Given the description of an element on the screen output the (x, y) to click on. 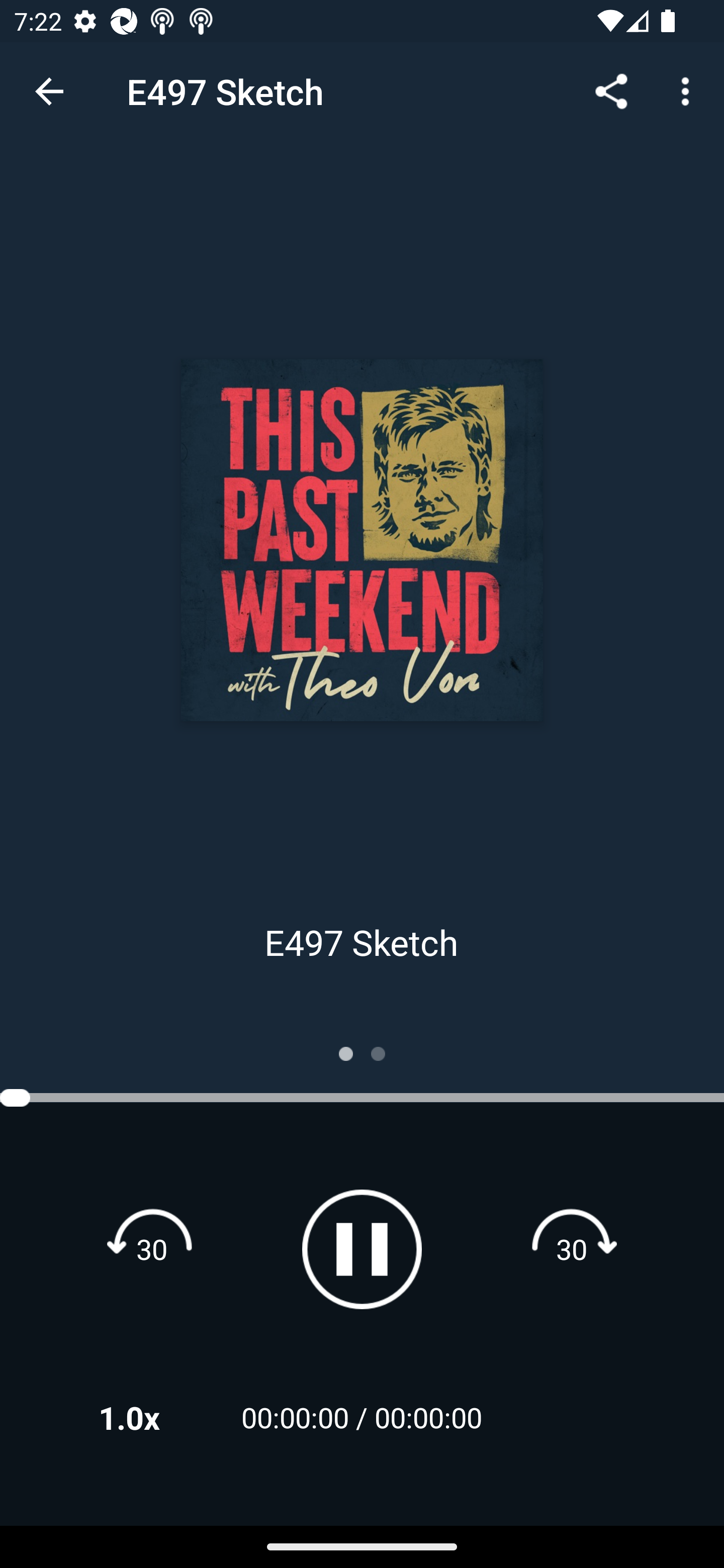
Navigate up (49, 91)
Share... (611, 90)
More options (688, 90)
Pause (361, 1249)
Rewind (151, 1248)
Fast forward (571, 1248)
1.0x Playback Speeds (154, 1417)
00:00:00 (428, 1417)
